Given the description of an element on the screen output the (x, y) to click on. 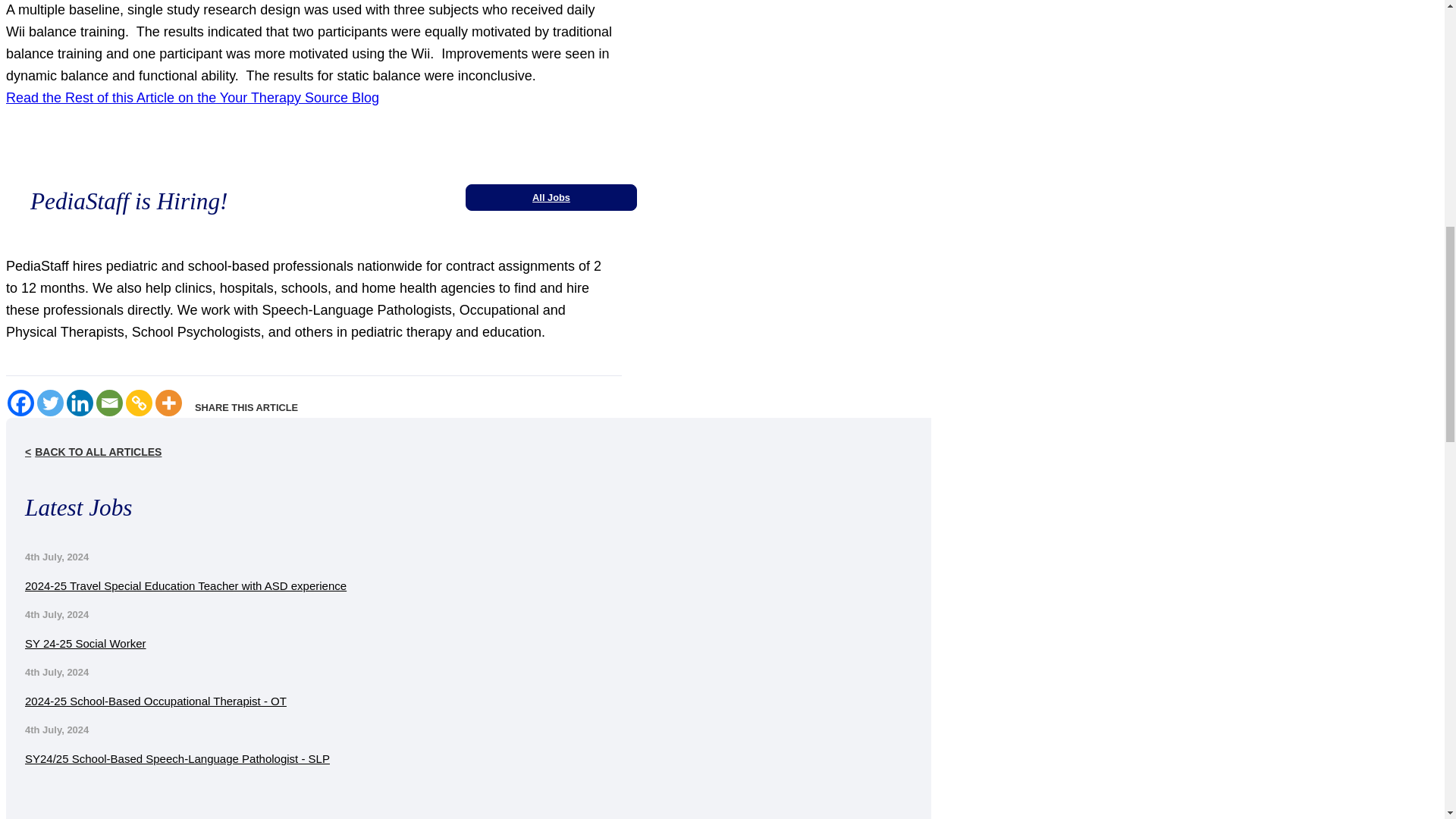
Linkedin (79, 402)
Twitter (50, 402)
Email (109, 402)
Copy Link (138, 402)
More (168, 402)
Facebook (20, 402)
